Given the description of an element on the screen output the (x, y) to click on. 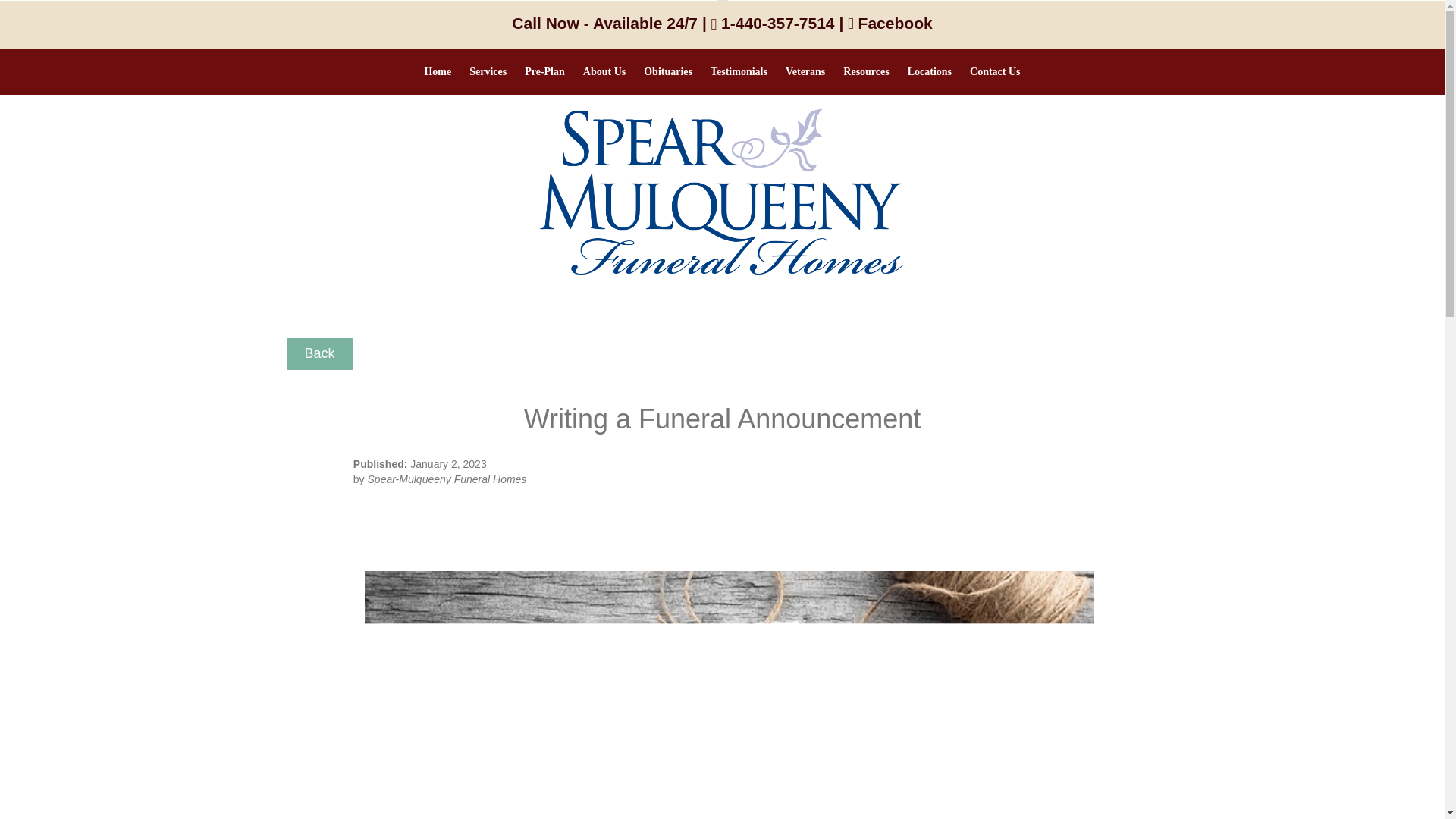
Home (437, 72)
Services (487, 72)
Veterans (805, 72)
About Us (603, 72)
Facebook (890, 22)
Pre-Plan (544, 72)
Resources (866, 72)
1-440-357-7514 (772, 22)
Testimonials (738, 72)
Contact Us (994, 72)
Obituaries (667, 72)
Locations (929, 72)
